Given the description of an element on the screen output the (x, y) to click on. 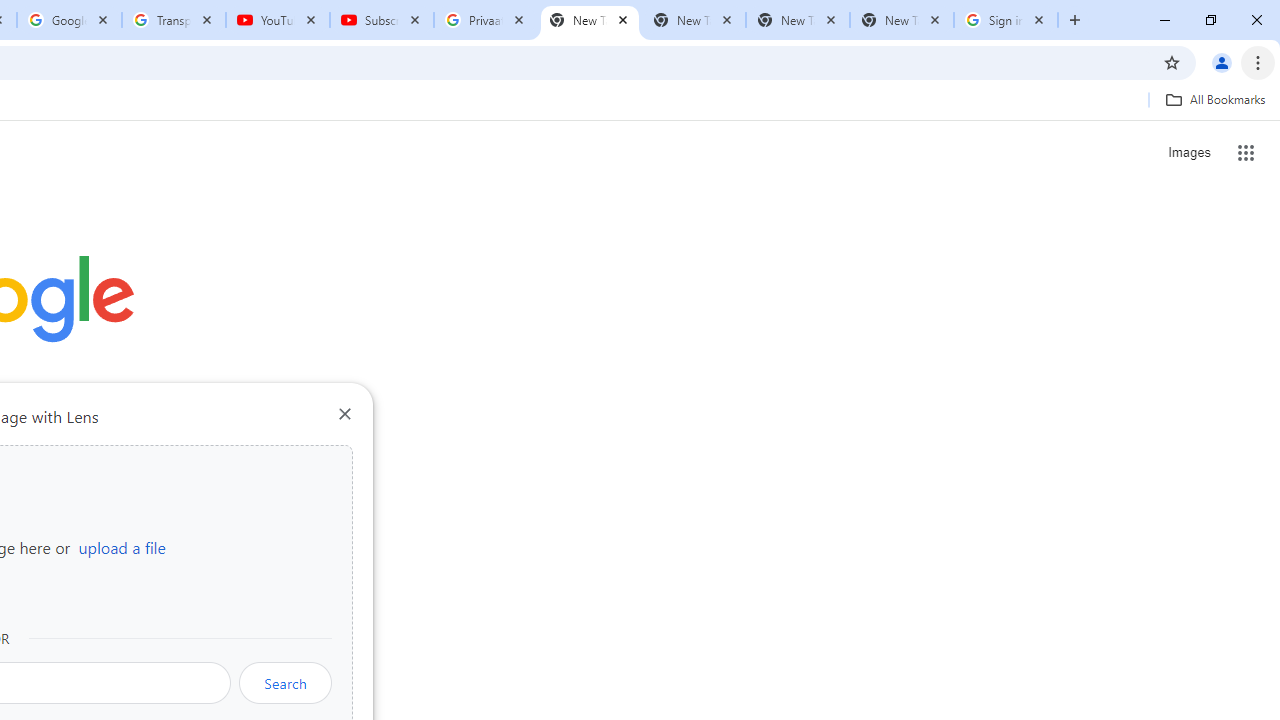
More actions for Sign in shortcut (152, 466)
Search for Images  (1188, 152)
YouTube (278, 20)
